Given the description of an element on the screen output the (x, y) to click on. 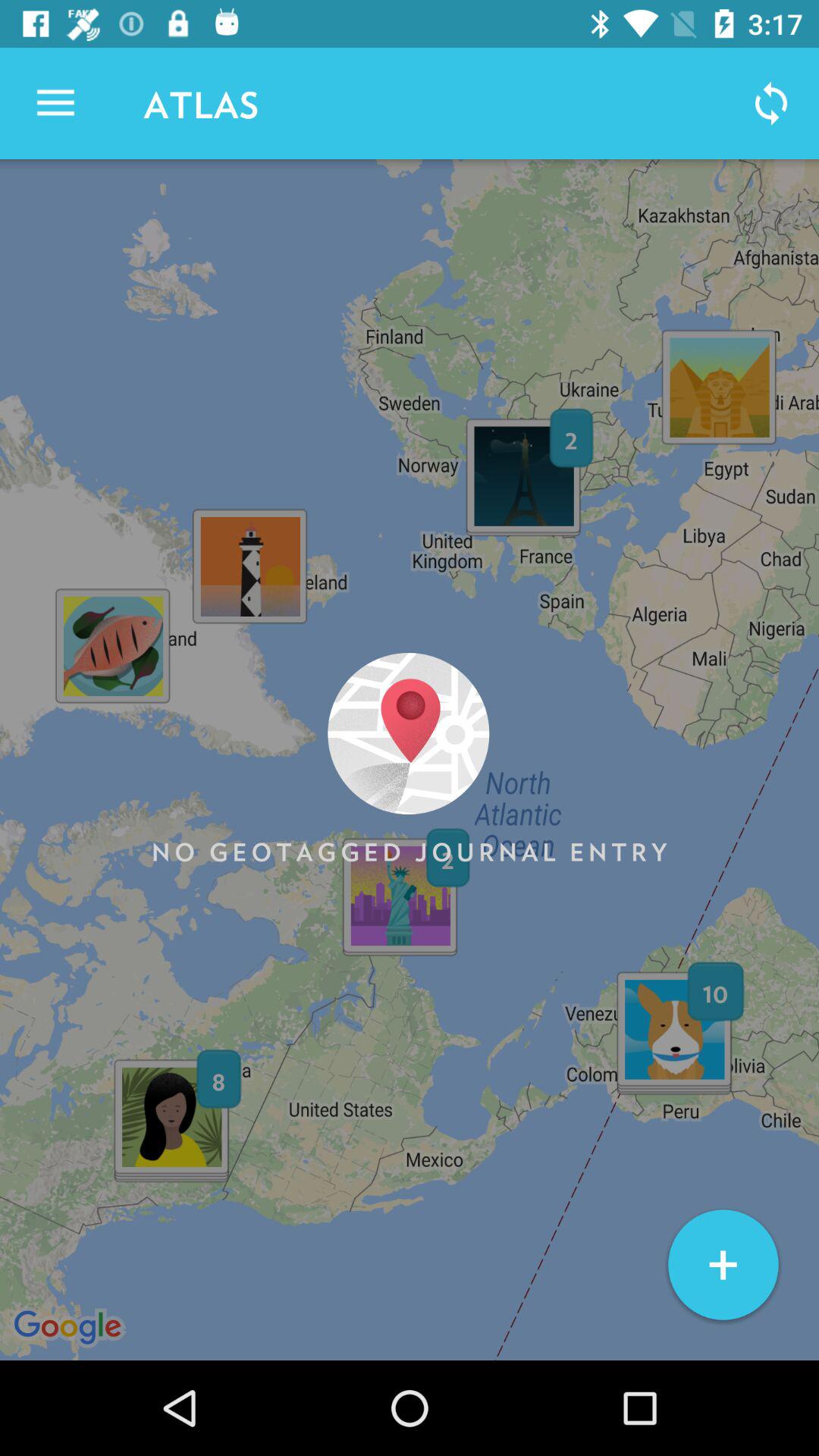
tap + icon (723, 1264)
